Given the description of an element on the screen output the (x, y) to click on. 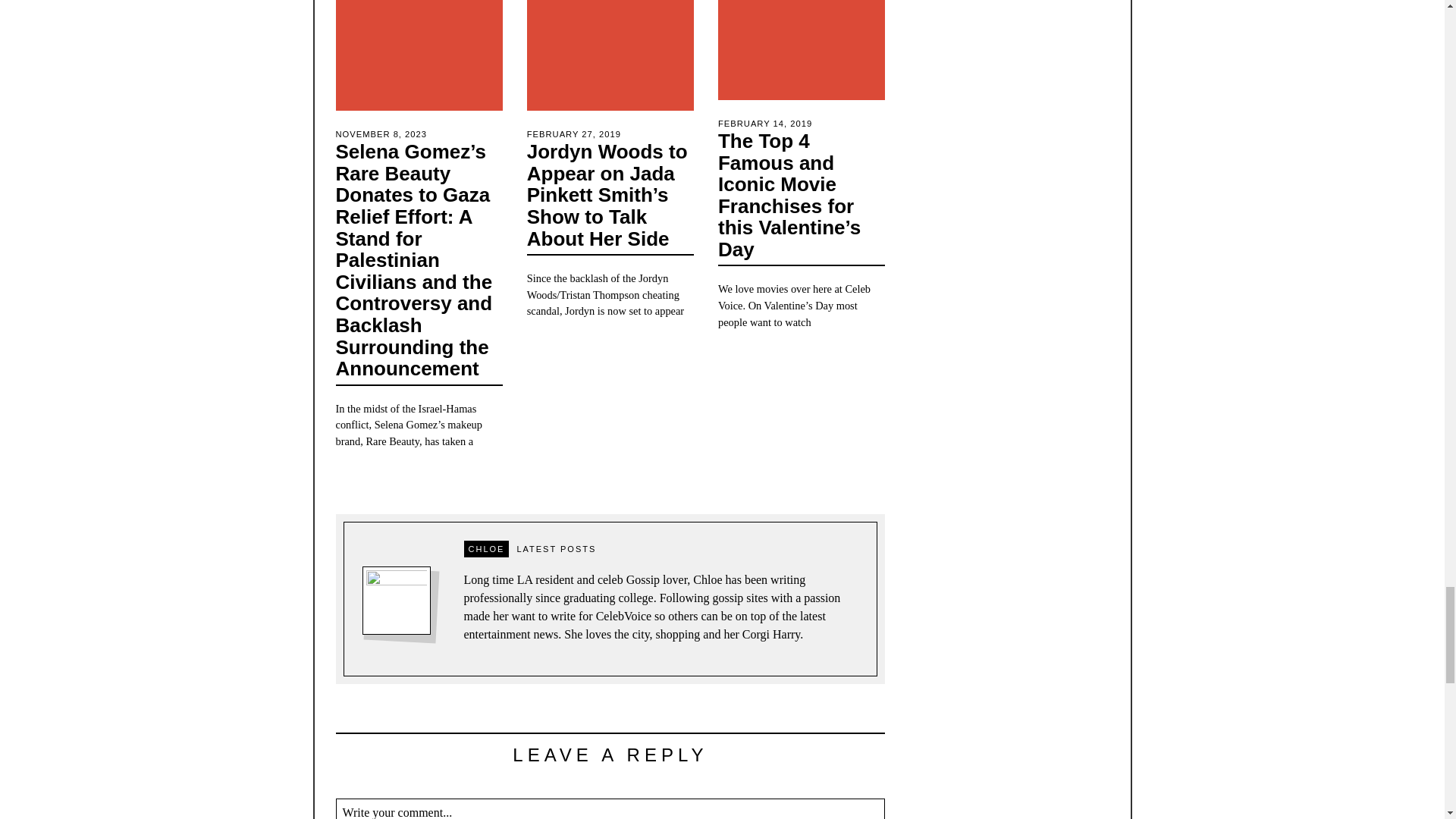
February 27, 2019 (574, 133)
November 8, 2023 (380, 133)
February 14, 2019 (764, 122)
